Given the description of an element on the screen output the (x, y) to click on. 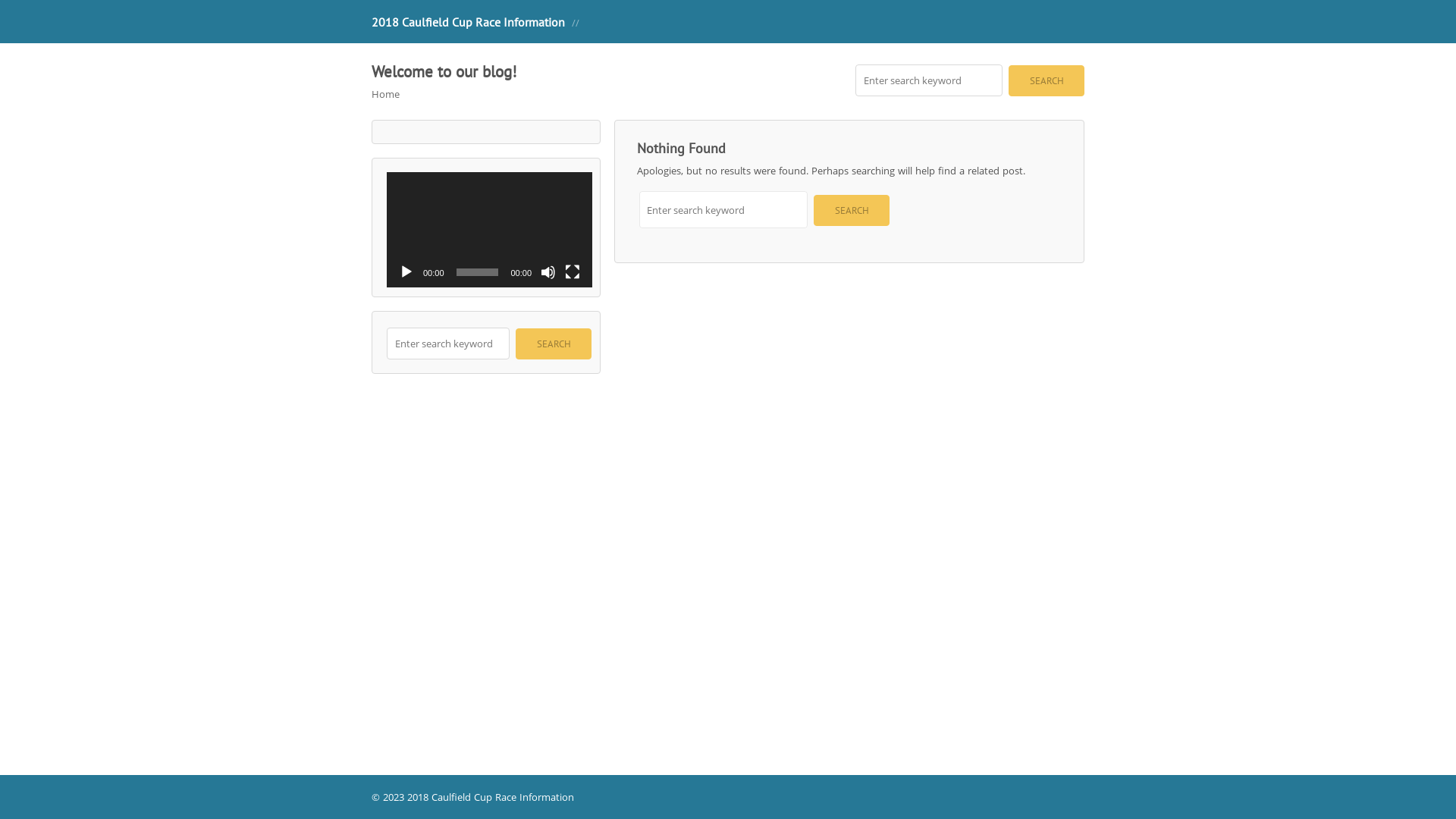
Play Element type: hover (406, 271)
Search Element type: text (851, 209)
Search Element type: text (553, 343)
Search Element type: text (1046, 80)
Mute Element type: hover (547, 271)
Fullscreen Element type: hover (572, 271)
2018 Caulfield Cup Race Information Element type: text (467, 21)
